Given the description of an element on the screen output the (x, y) to click on. 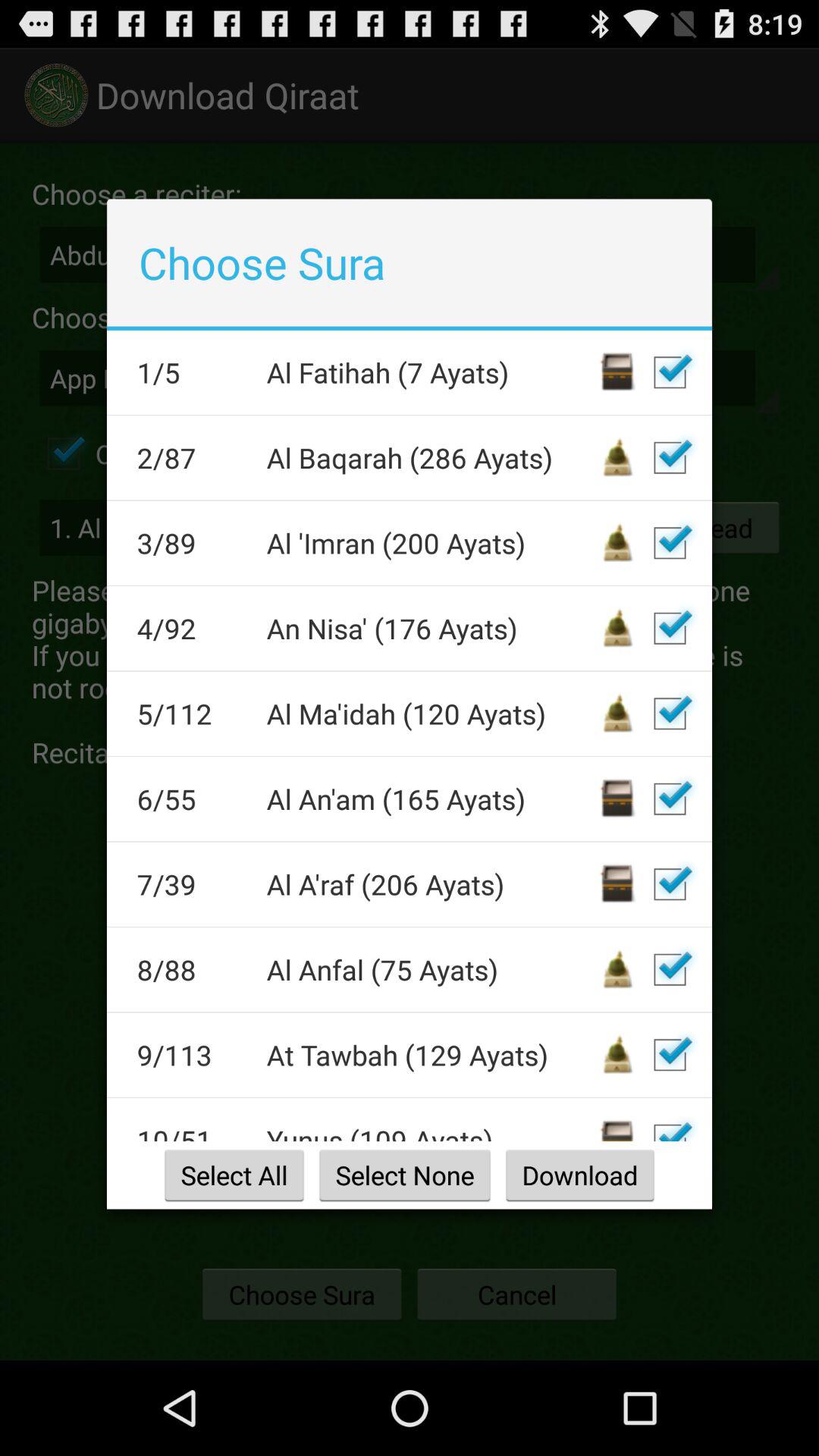
scroll until al anfal 75 (430, 969)
